Given the description of an element on the screen output the (x, y) to click on. 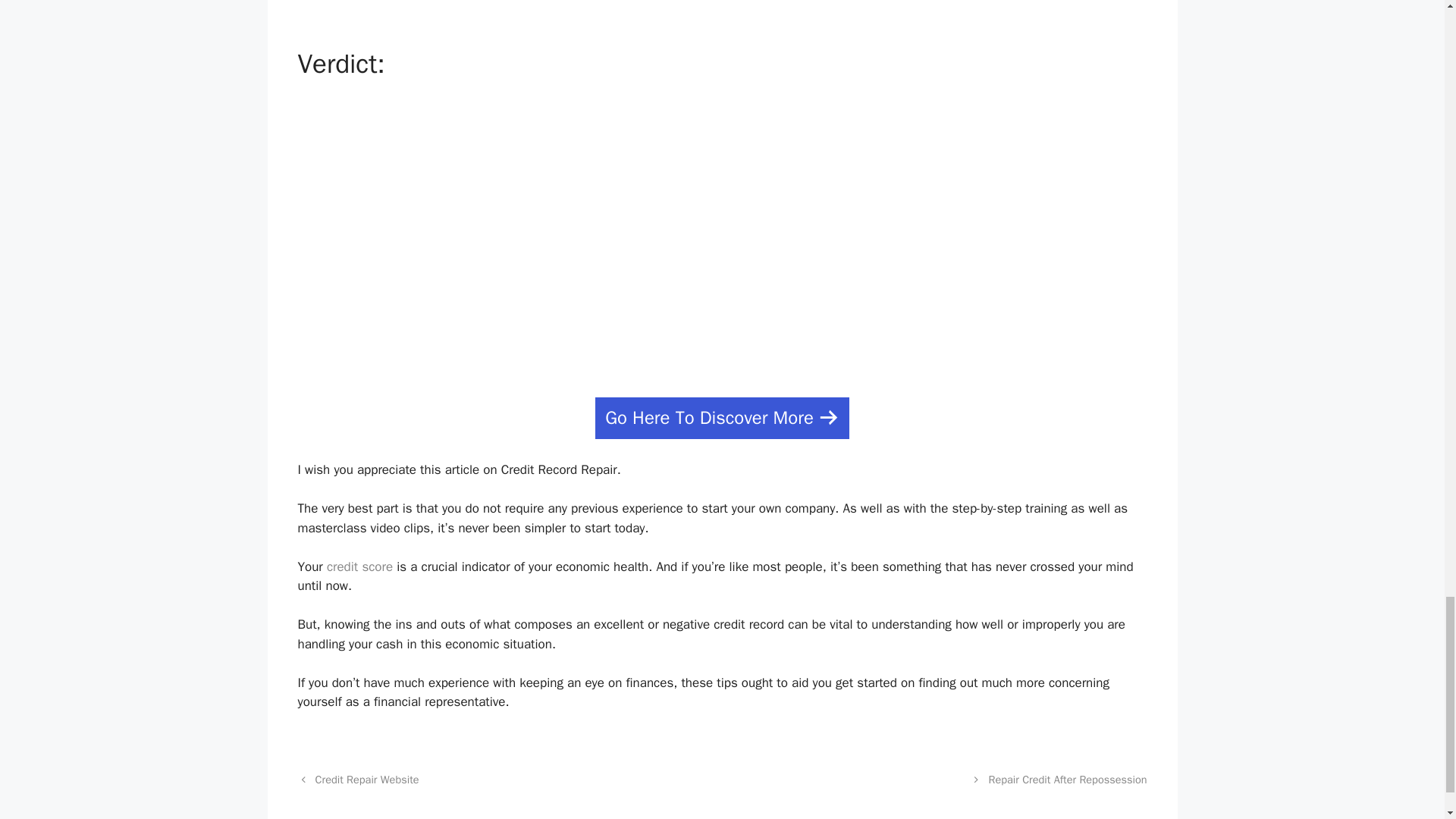
Credit Repair Website (367, 779)
Go Here To Discover More (721, 417)
credit score (359, 565)
Repair Credit After Repossession (1067, 779)
